Given the description of an element on the screen output the (x, y) to click on. 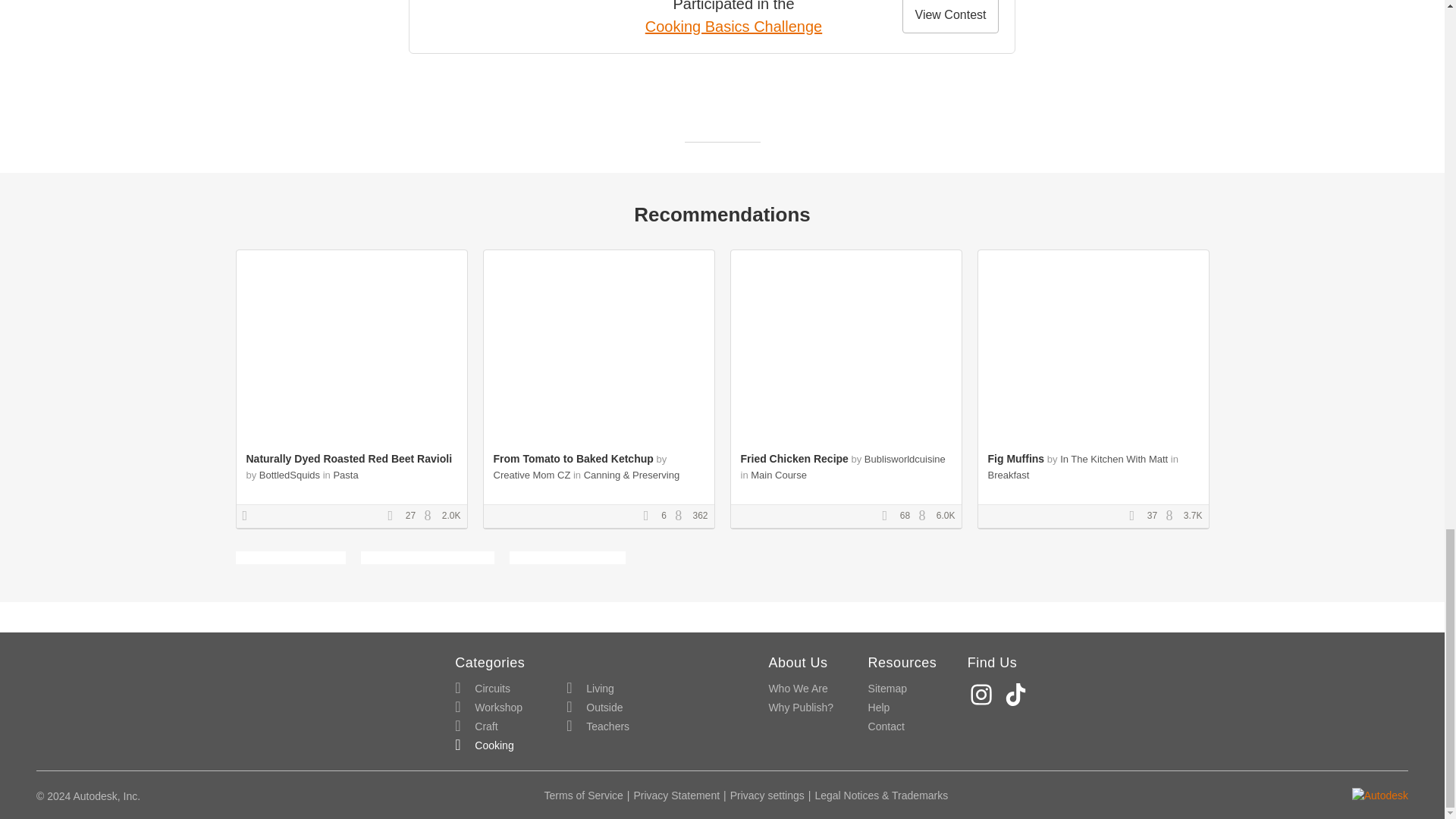
Views Count (1173, 516)
TikTok (1018, 694)
Favorites Count (395, 516)
From Tomato to Baked Ketchup (572, 458)
BottledSquids (289, 474)
Breakfast (1008, 474)
Favorites Count (1136, 516)
Contest Winner (250, 516)
In The Kitchen With Matt (1113, 459)
Views Count (682, 516)
